Given the description of an element on the screen output the (x, y) to click on. 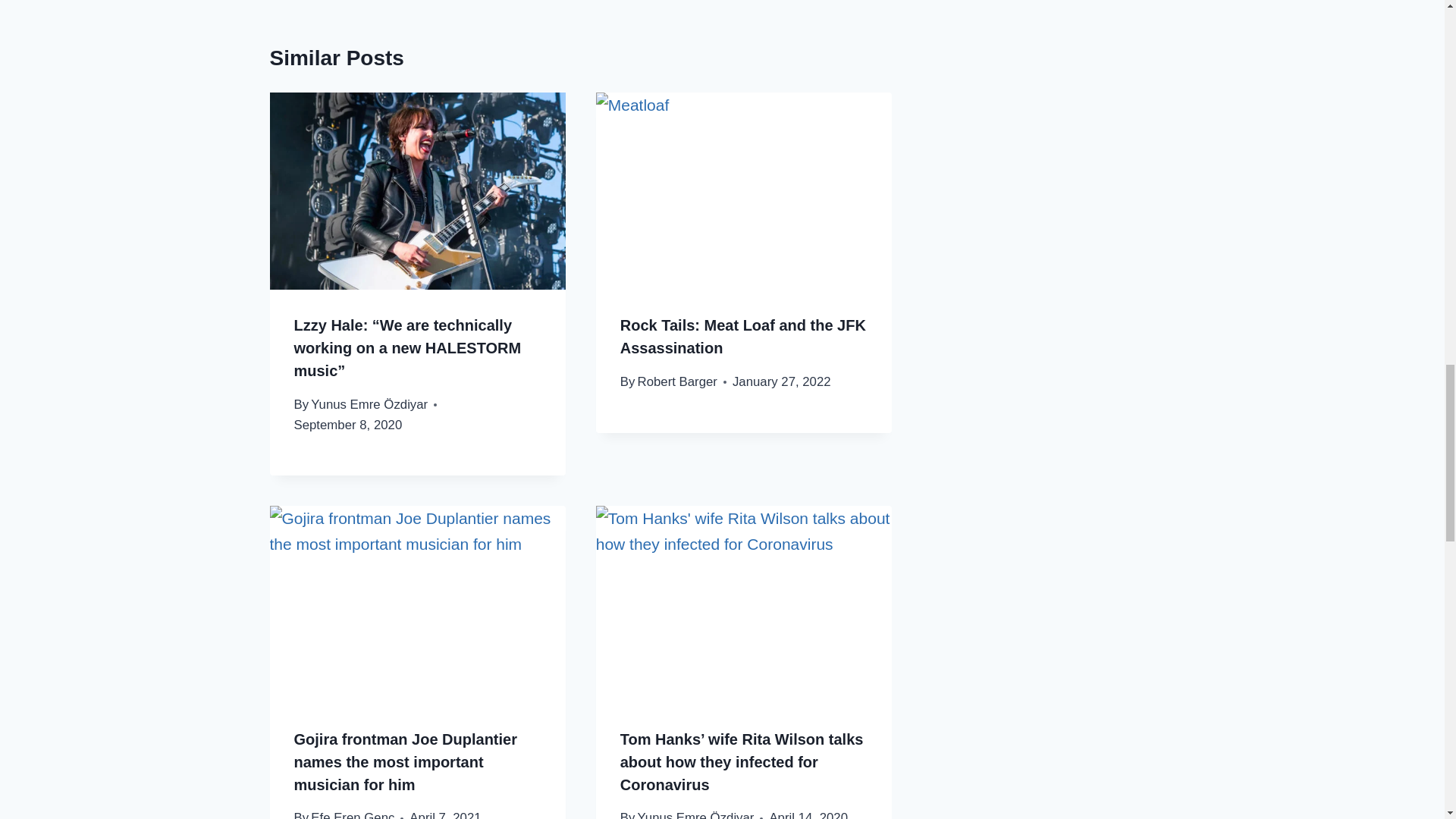
Efe Eren Genc (352, 814)
Robert Barger (677, 381)
Rock Tails: Meat Loaf and the JFK Assassination (743, 336)
